Given the description of an element on the screen output the (x, y) to click on. 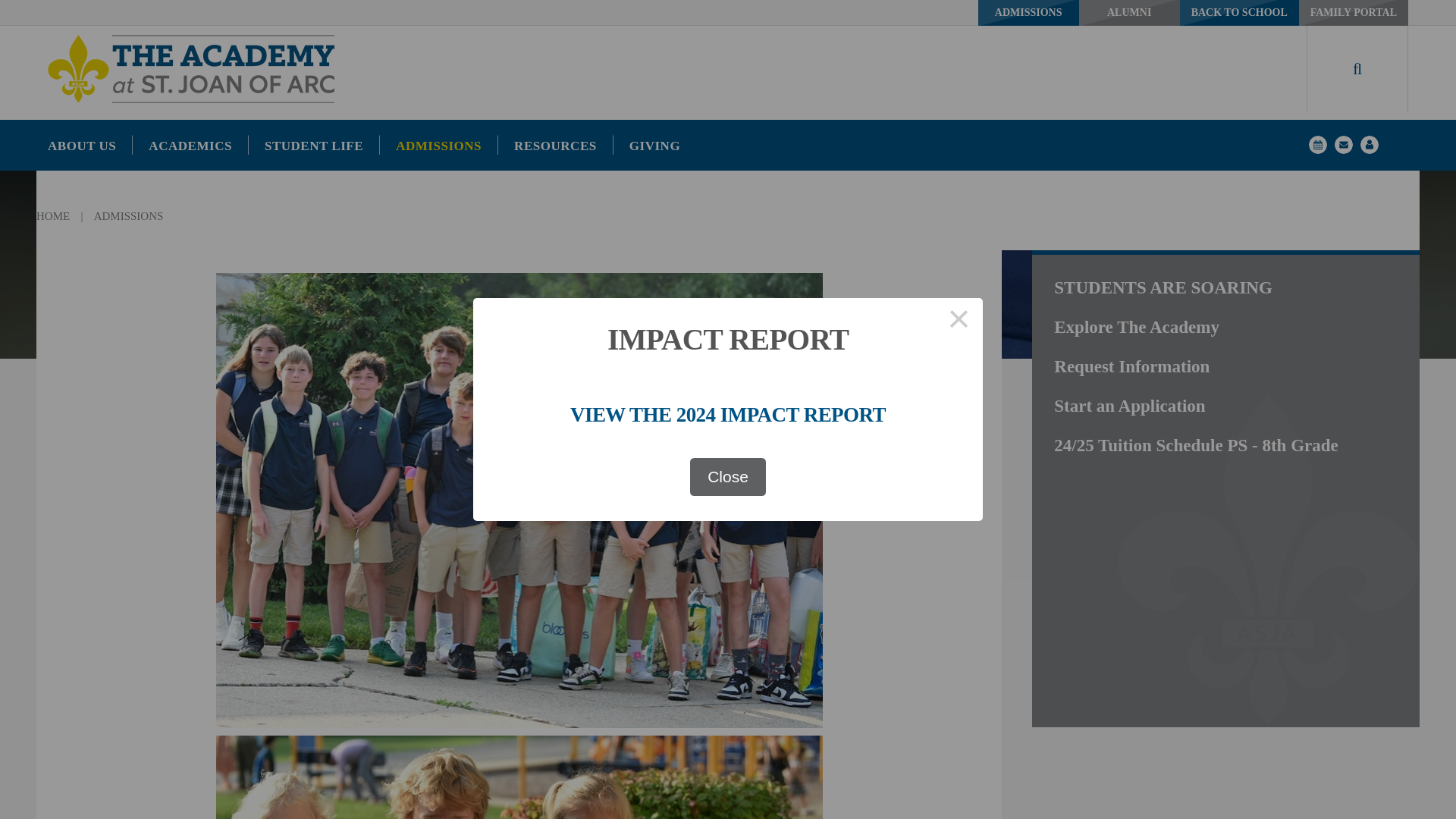
ADMISSIONS (438, 144)
BACK TO SCHOOL (1238, 12)
ADMISSIONS (1028, 12)
FAMILY PORTAL (1352, 12)
ABOUT US (90, 144)
ACADEMICS (190, 144)
ALUMNI (1128, 12)
STUDENT LIFE (314, 144)
